Given the description of an element on the screen output the (x, y) to click on. 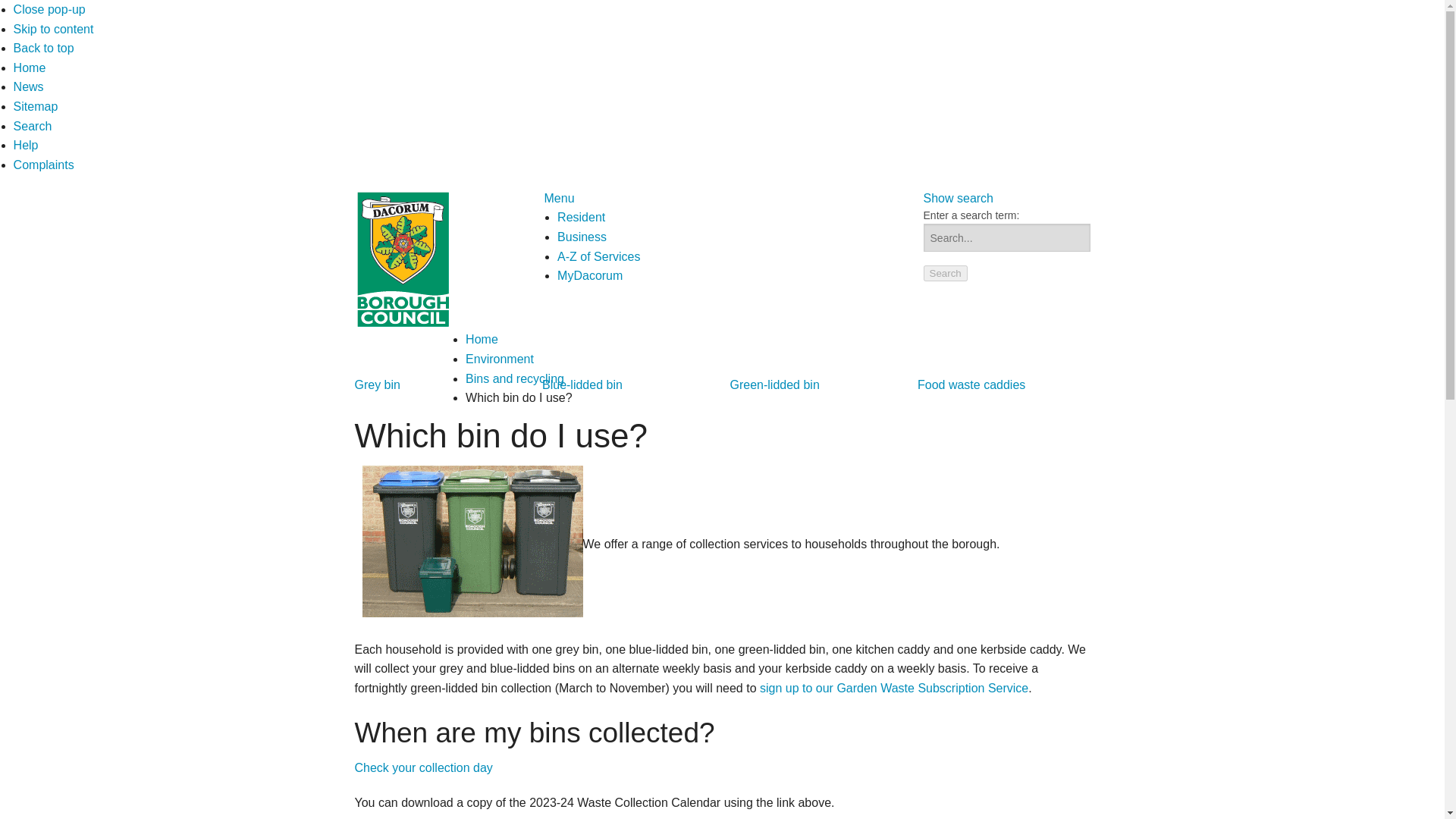
Sitemap (35, 106)
Resident (581, 216)
Search (945, 273)
Search (32, 125)
Home (481, 338)
Green-lidded bin (773, 384)
Dacorum wheeled bins and food caddy (472, 541)
Close pop-up, p (49, 9)
Check your collection day (424, 767)
Green-lidded bin (773, 384)
